Given the description of an element on the screen output the (x, y) to click on. 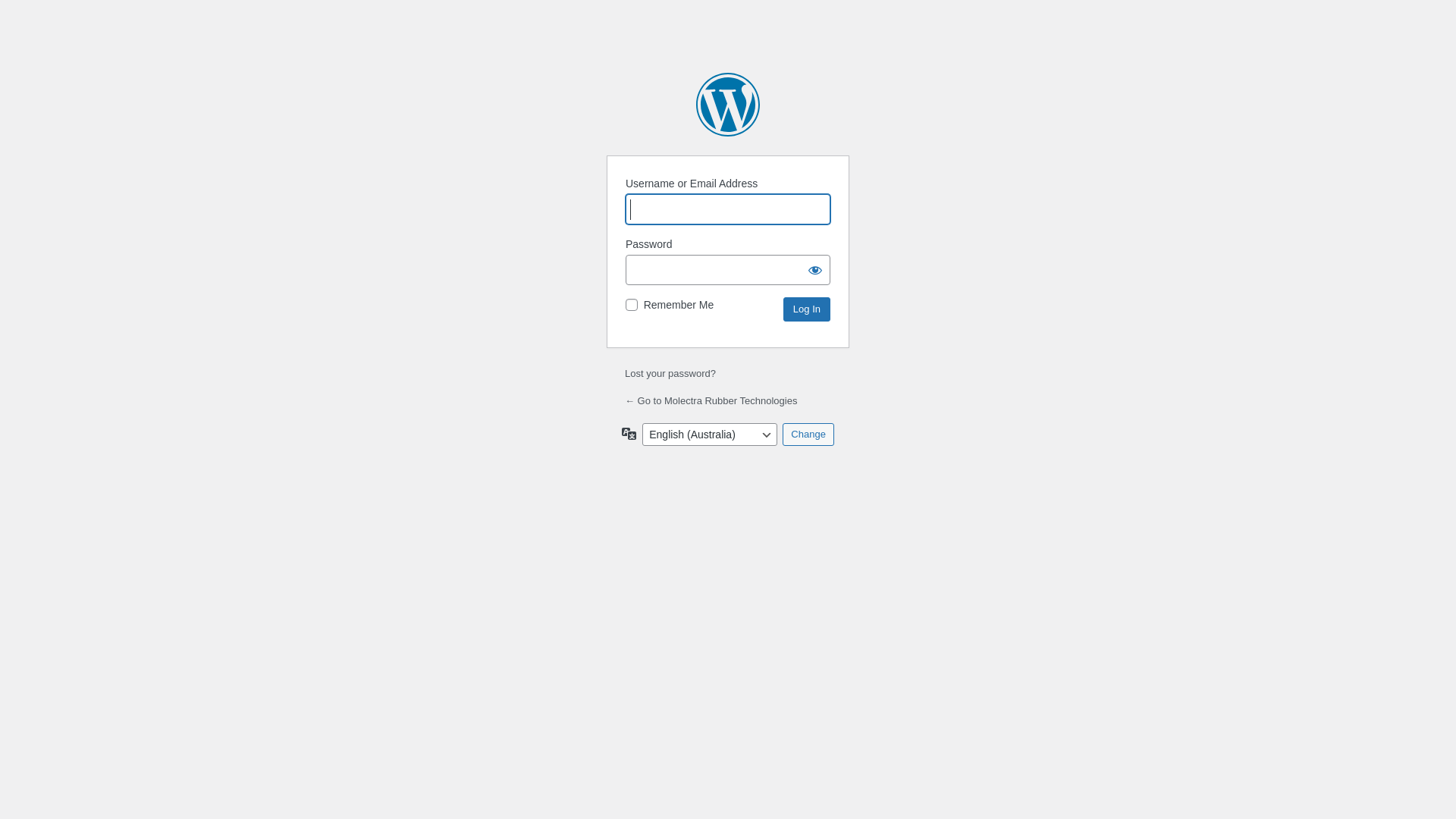
Change Element type: text (808, 434)
Lost your password? Element type: text (669, 373)
Powered by WordPress Element type: text (727, 104)
Log In Element type: text (806, 309)
